Given the description of an element on the screen output the (x, y) to click on. 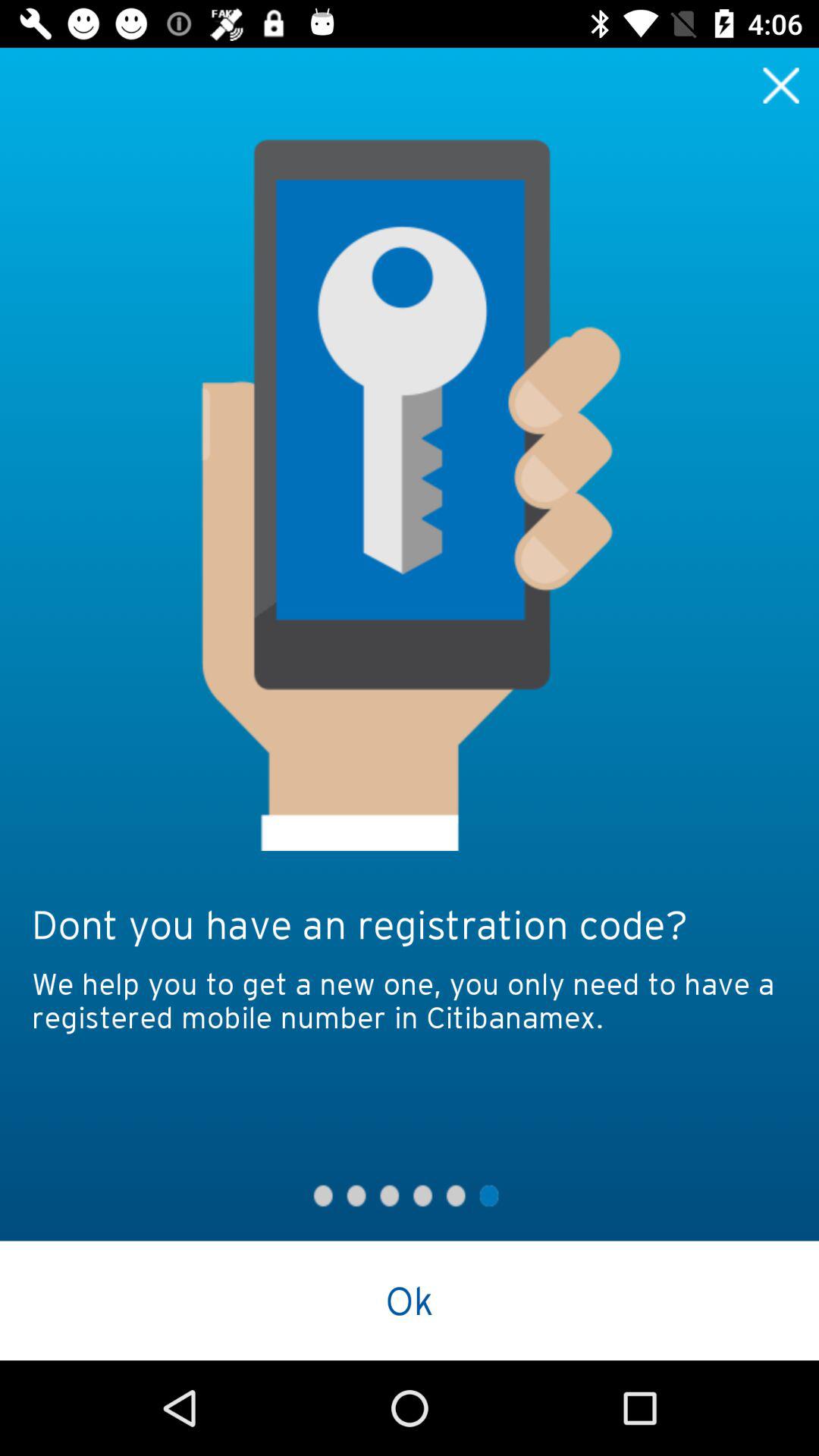
close this page (781, 85)
